Given the description of an element on the screen output the (x, y) to click on. 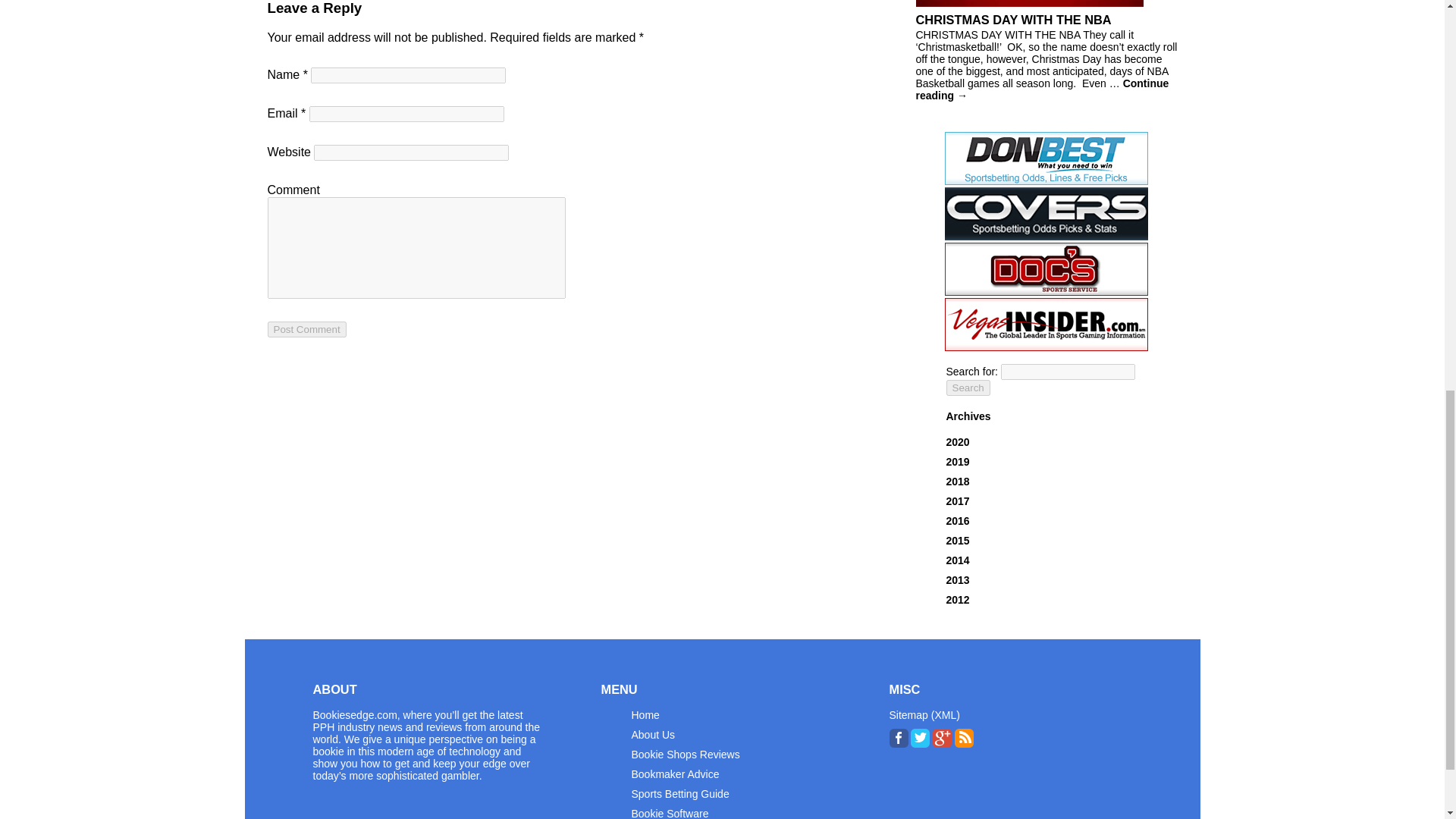
CHRISTMAS DAY WITH THE NBA (1046, 28)
Post Comment (306, 329)
2019 (957, 461)
2020 (957, 441)
Search (968, 387)
Post Comment (306, 329)
2018 (957, 481)
Search (968, 387)
